Given the description of an element on the screen output the (x, y) to click on. 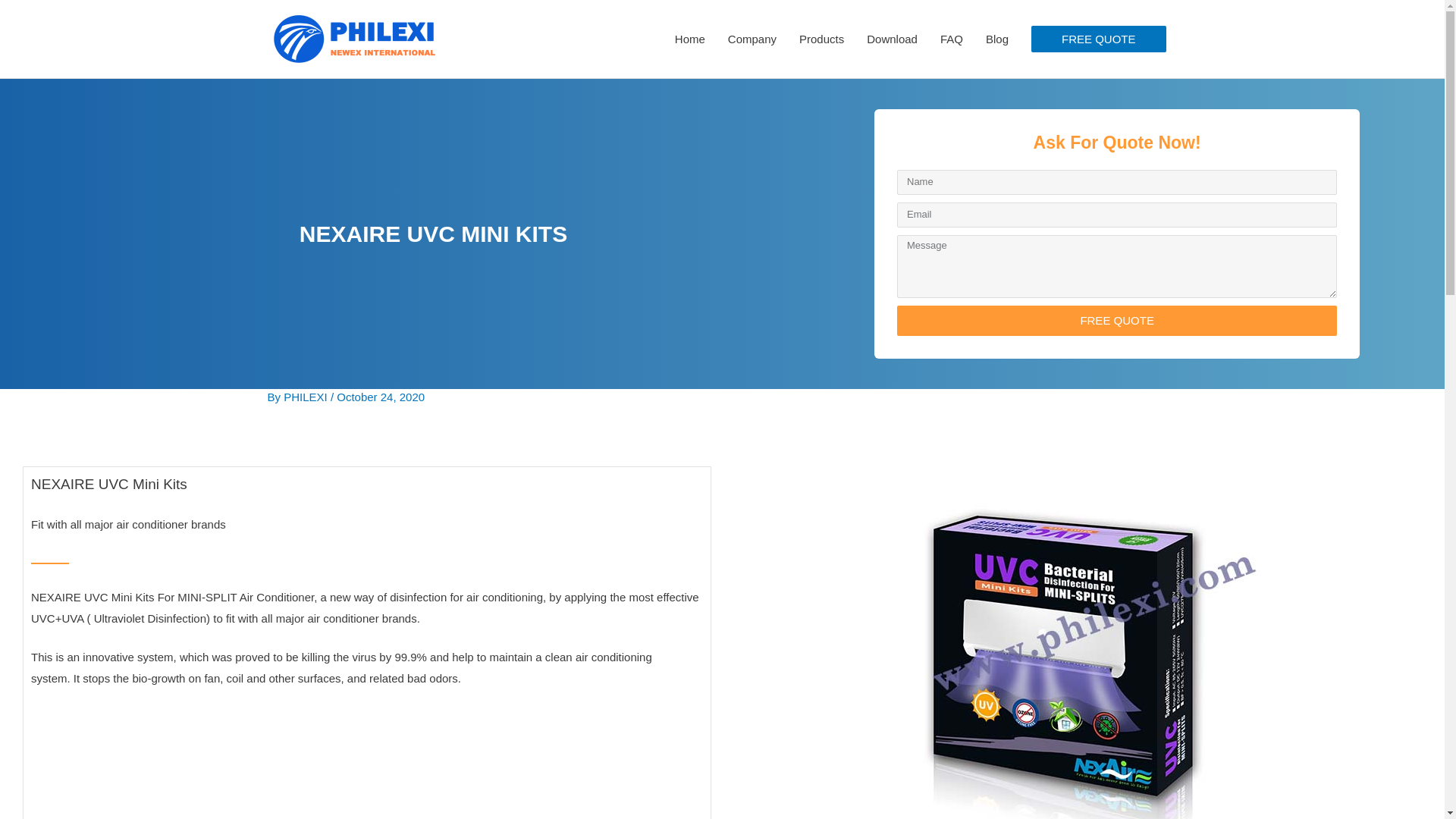
Company (751, 38)
NEXAIRE UVC MINI KITS (433, 246)
PHILEXI (306, 396)
FREE QUOTE (1098, 38)
Download (892, 38)
View all posts by PHILEXI (306, 396)
FREE QUOTE (1116, 431)
